Given the description of an element on the screen output the (x, y) to click on. 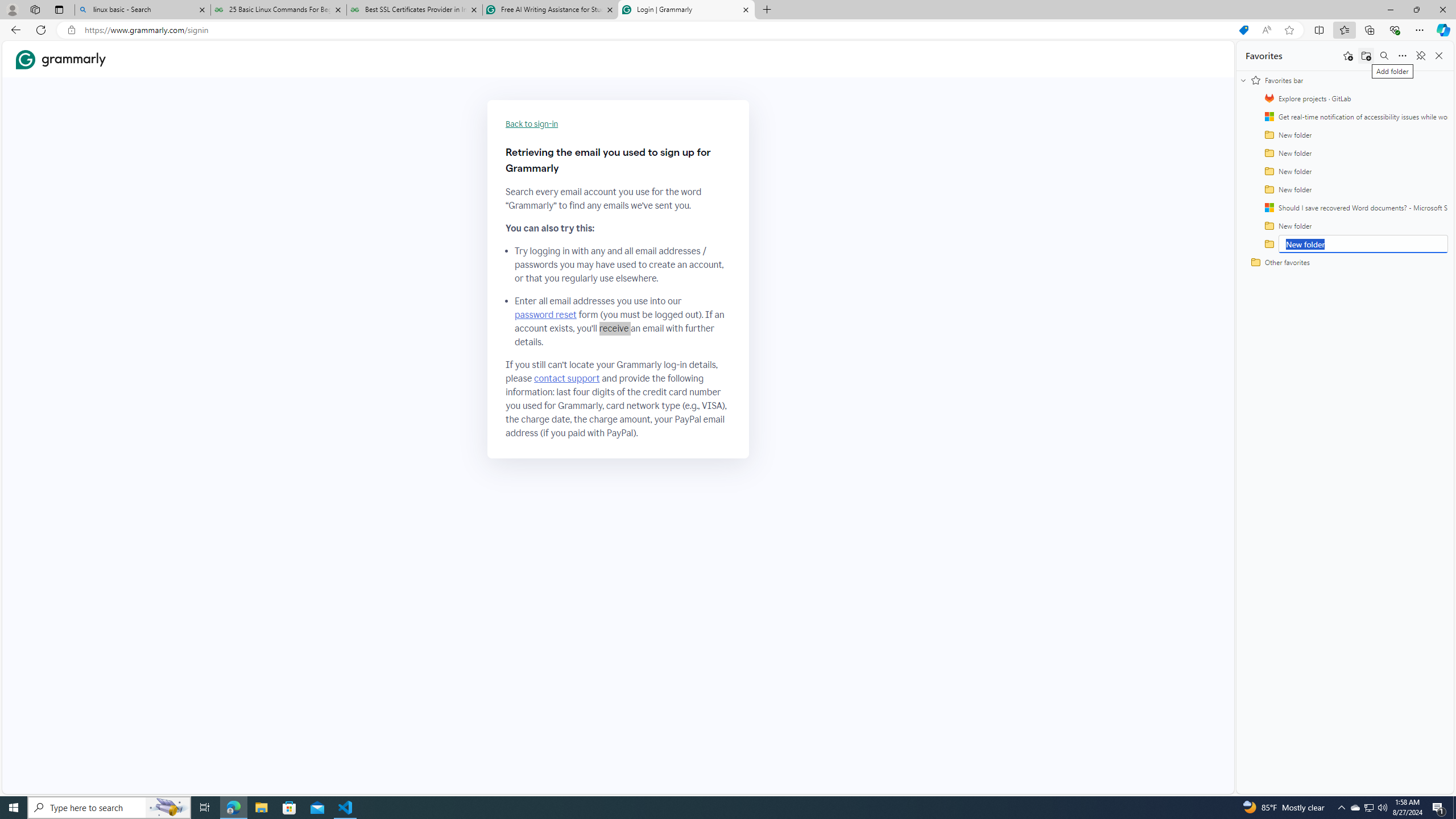
Best SSL Certificates Provider in India - GeeksforGeeks (414, 9)
Free AI Writing Assistance for Students | Grammarly (550, 9)
Search favorites (1383, 55)
25 Basic Linux Commands For Beginners - GeeksforGeeks (277, 9)
Back to sign-in (532, 124)
Add this page to favorites (1347, 55)
Unpin favorites (1420, 55)
Shopping in Microsoft Edge (1243, 29)
